Given the description of an element on the screen output the (x, y) to click on. 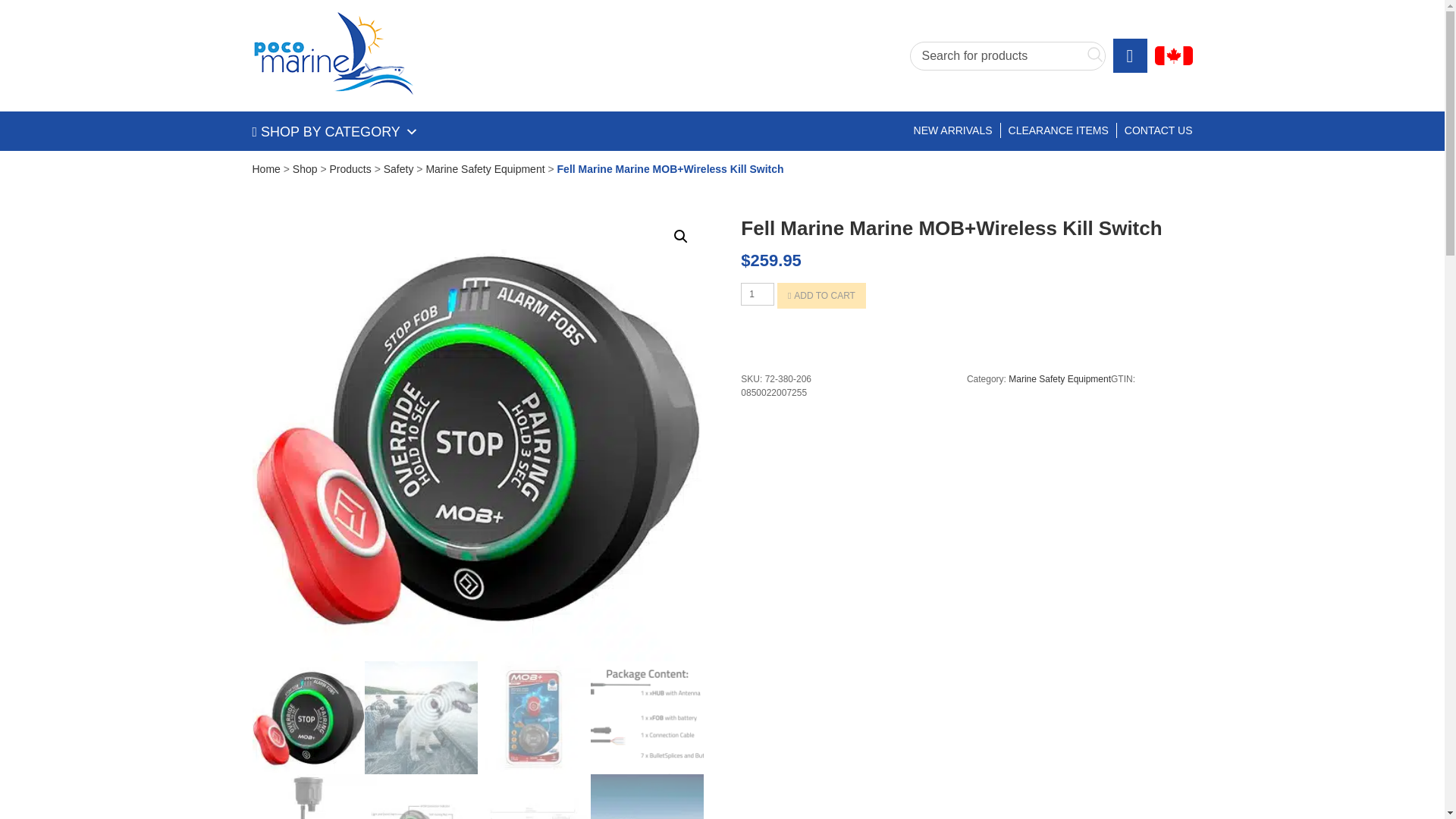
SHOP BY CATEGORY (334, 131)
Go to Shop. (304, 168)
Go to the Marine Safety Equipment Product Category archives. (484, 168)
Go to Poco Marine. (265, 168)
1 (757, 293)
Go to Products. (350, 168)
Poco Marine (332, 55)
View your shopping cart (1130, 55)
Go to the Safety Product Category archives. (398, 168)
